Given the description of an element on the screen output the (x, y) to click on. 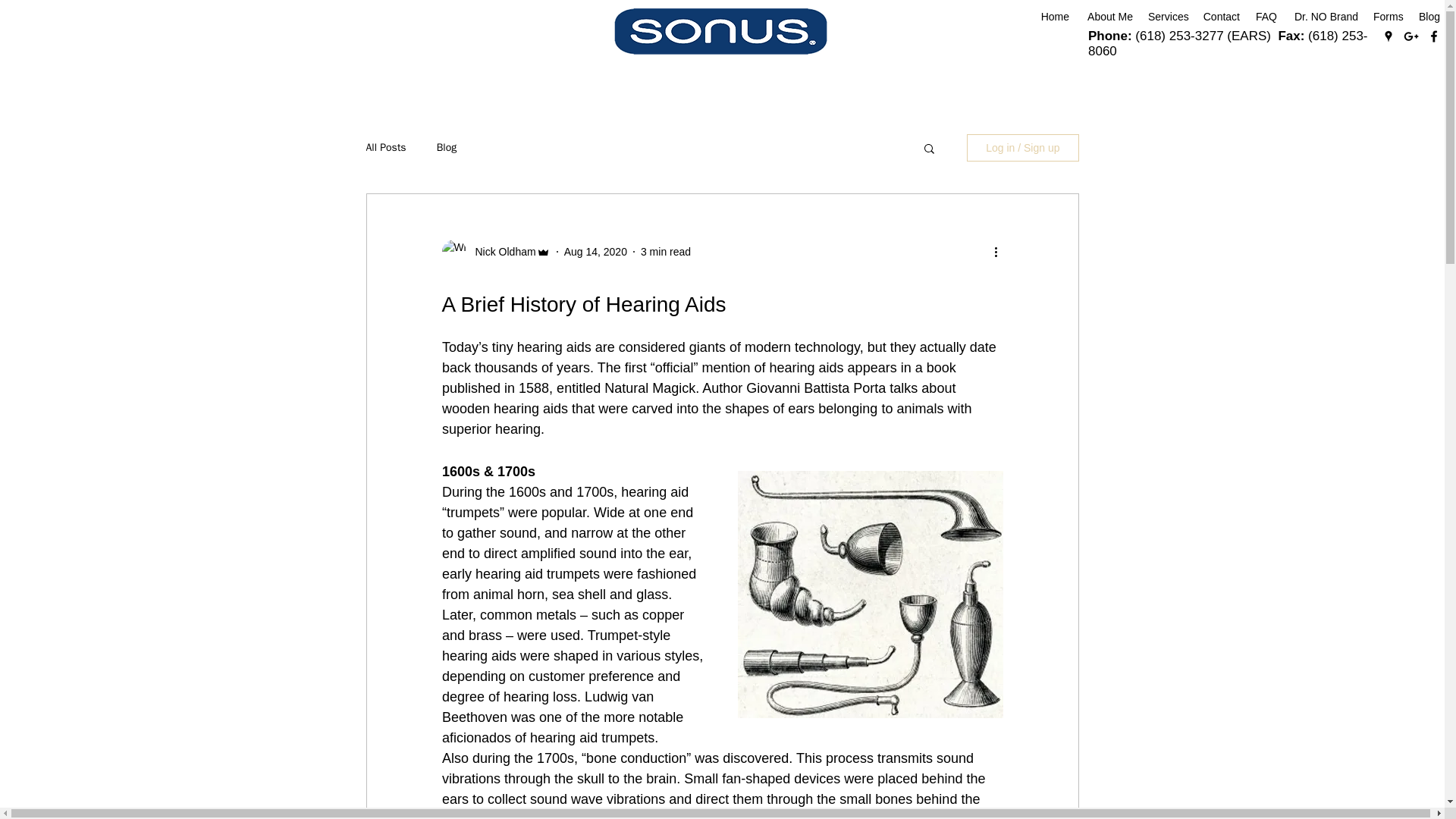
Services (1166, 16)
3 min read (665, 251)
All Posts (385, 147)
Blog (446, 147)
Dr. NO Brand (1324, 16)
Aug 14, 2020 (595, 251)
FAQ (1265, 16)
Home (1054, 16)
Forms (1387, 16)
About Me (1108, 16)
Nick Oldham (500, 252)
Contact (1220, 16)
